Given the description of an element on the screen output the (x, y) to click on. 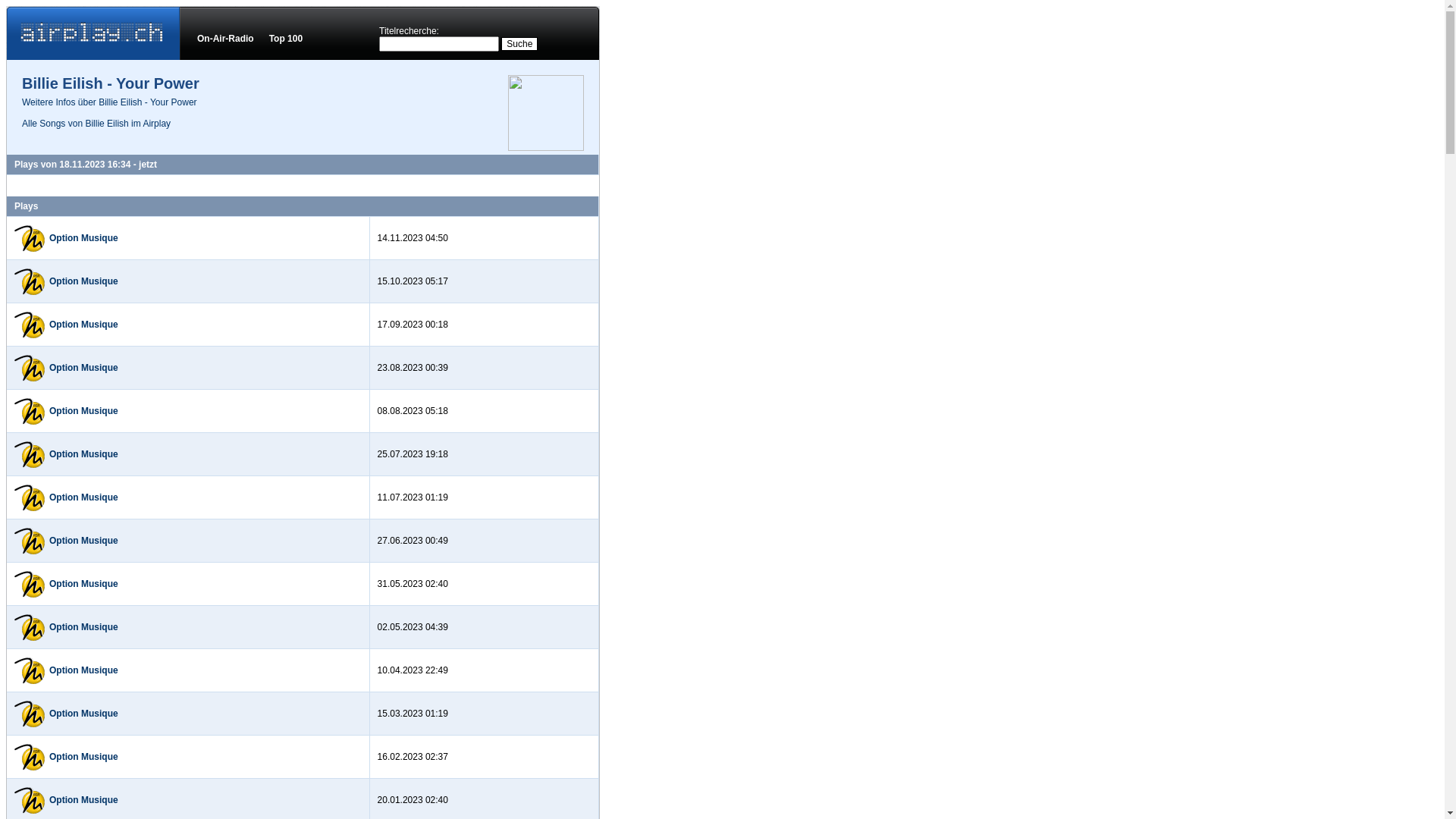
Option Musique Element type: text (83, 540)
Option Musique Element type: text (83, 799)
Top 100 Element type: text (285, 38)
Option Musique Element type: text (83, 497)
Option Musique Element type: text (83, 713)
Option Musique Element type: text (83, 670)
Option Musique Element type: text (83, 583)
Option Musique Element type: text (83, 237)
Suche Element type: text (519, 43)
Alle Songs von Billie Eilish im Airplay Element type: text (95, 123)
Option Musique Element type: text (83, 626)
On-Air-Radio Element type: text (225, 38)
Option Musique Element type: text (83, 410)
Option Musique Element type: text (83, 453)
Option Musique Element type: text (83, 367)
Option Musique Element type: text (83, 324)
Option Musique Element type: text (83, 281)
Option Musique Element type: text (83, 756)
